Given the description of an element on the screen output the (x, y) to click on. 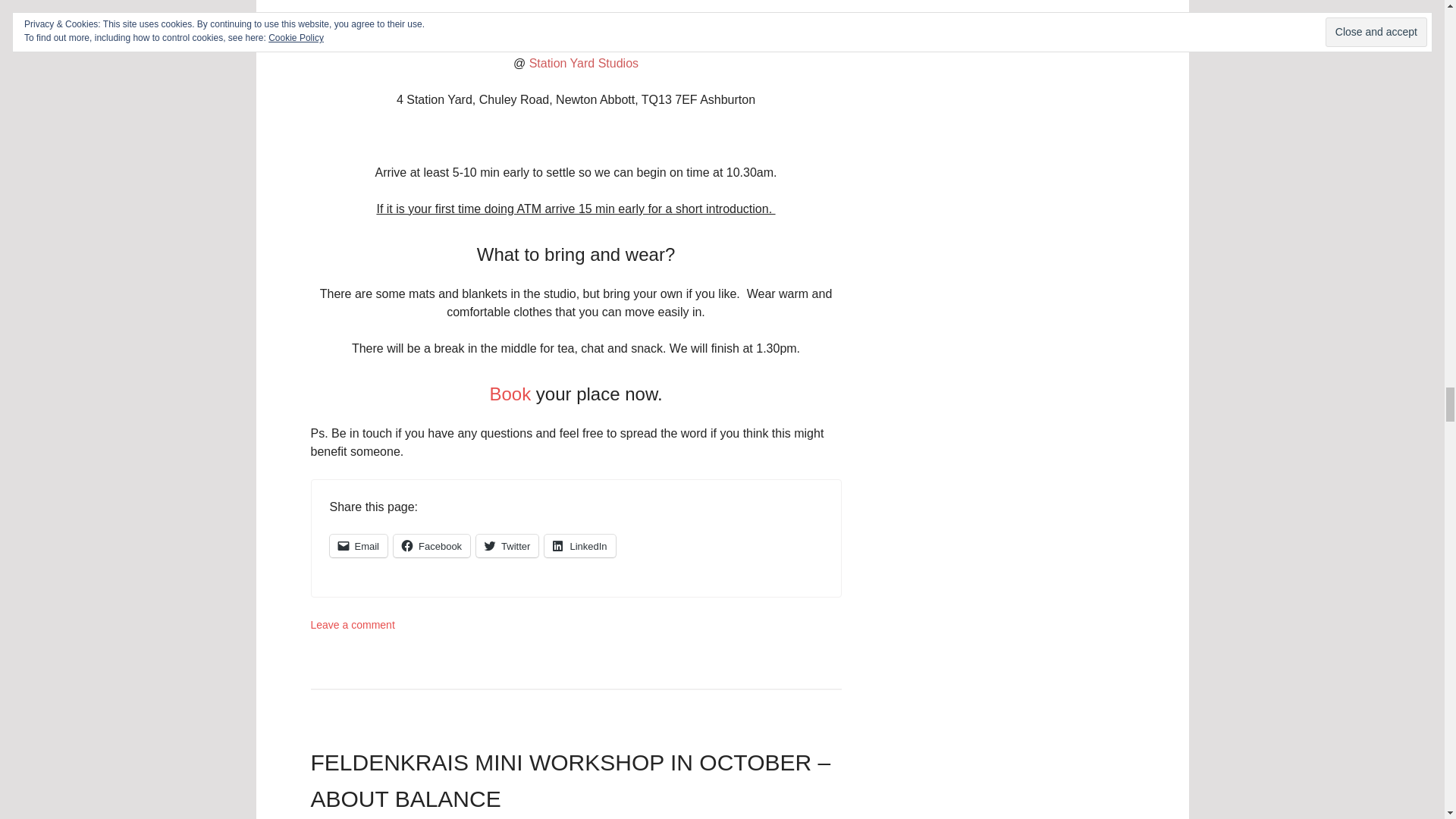
Click to share on LinkedIn (579, 545)
Click to email a link to a friend (358, 545)
Click to share on Twitter (507, 545)
Click to share on Facebook (431, 545)
